Given the description of an element on the screen output the (x, y) to click on. 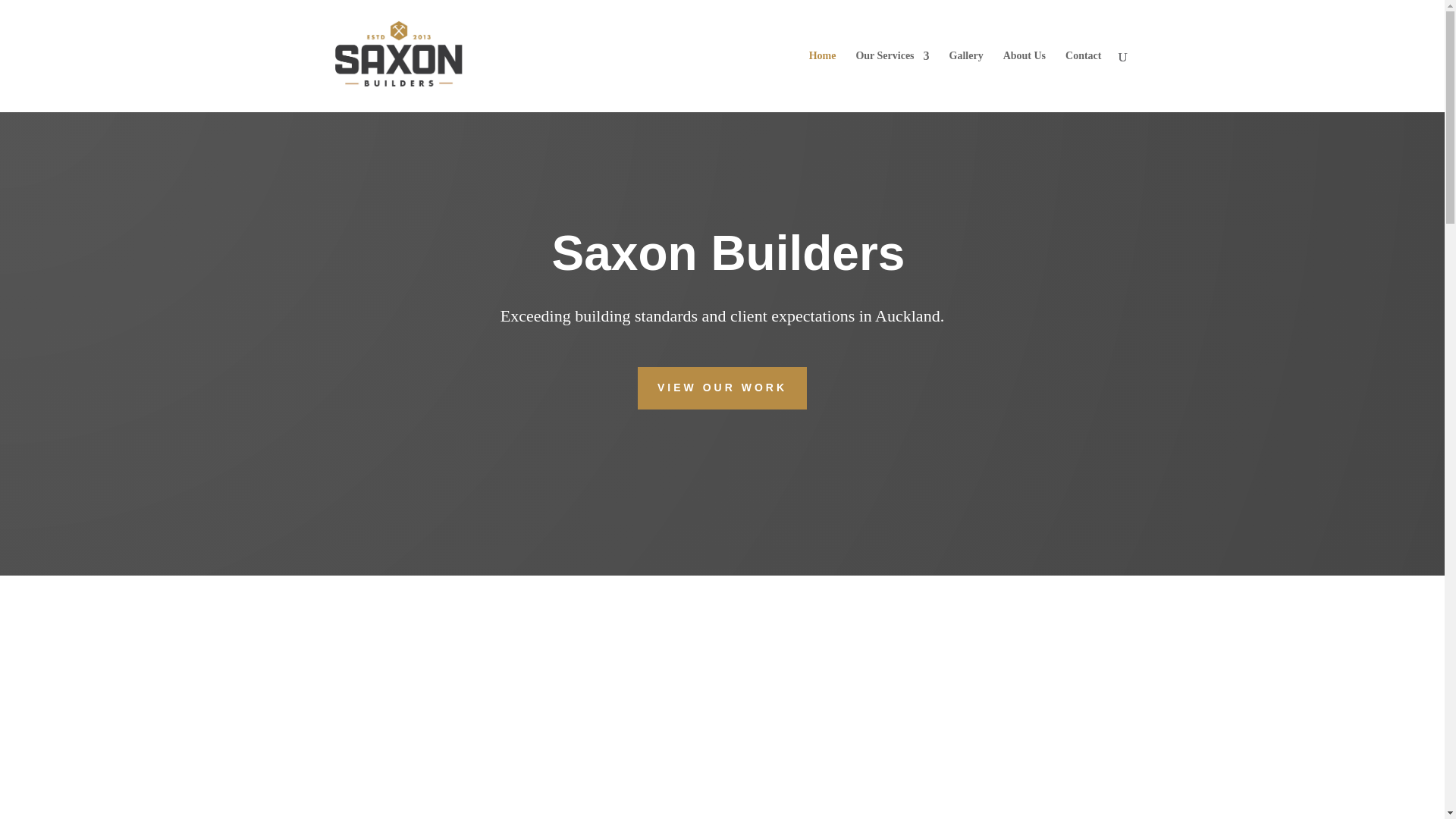
VIEW OUR WORK (721, 387)
Our Services (892, 81)
